Given the description of an element on the screen output the (x, y) to click on. 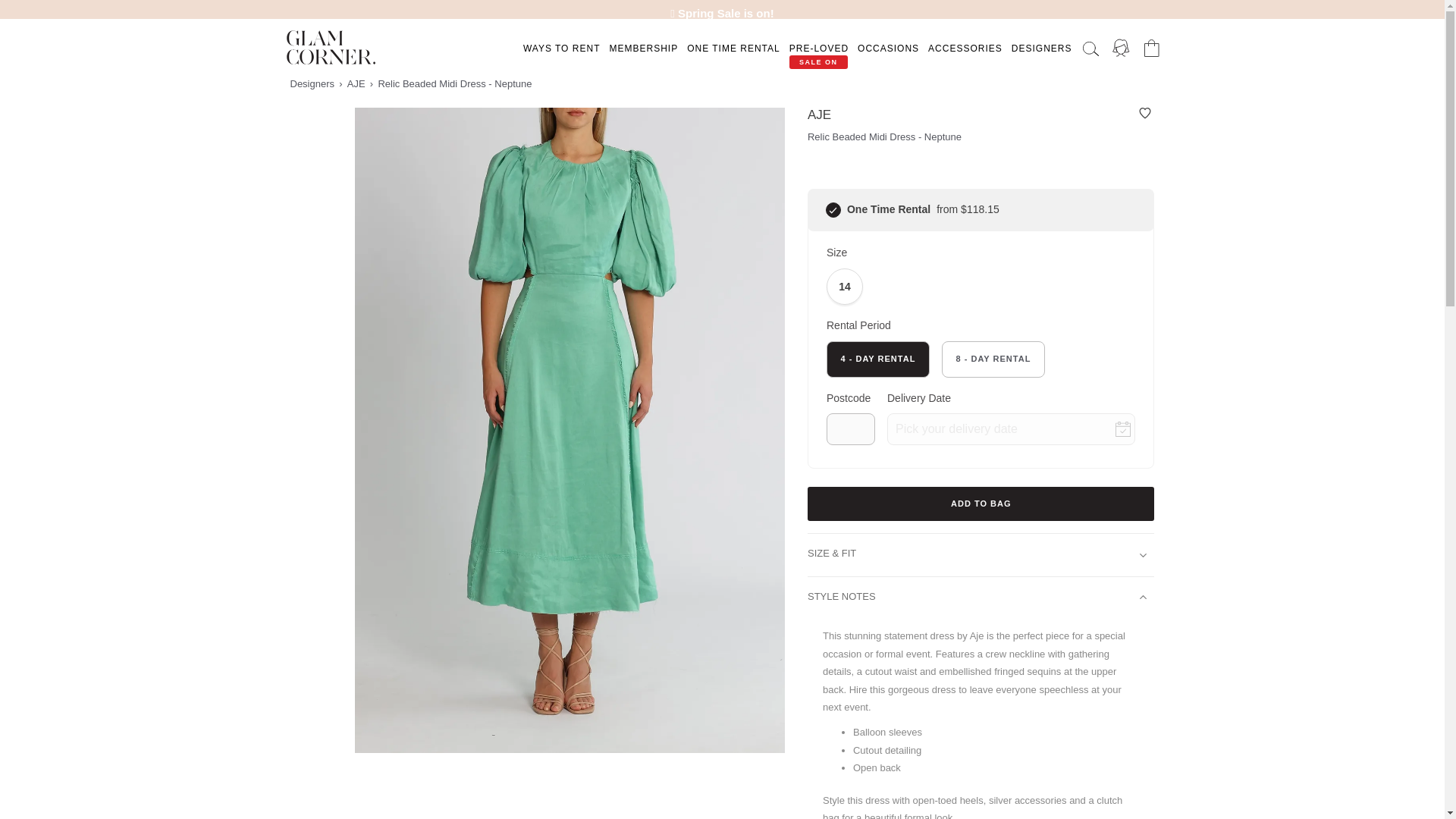
WAYS TO RENT (561, 48)
MEMBERSHIP (643, 48)
Rent Designer Dresses Online - Glam Corner (330, 47)
